Given the description of an element on the screen output the (x, y) to click on. 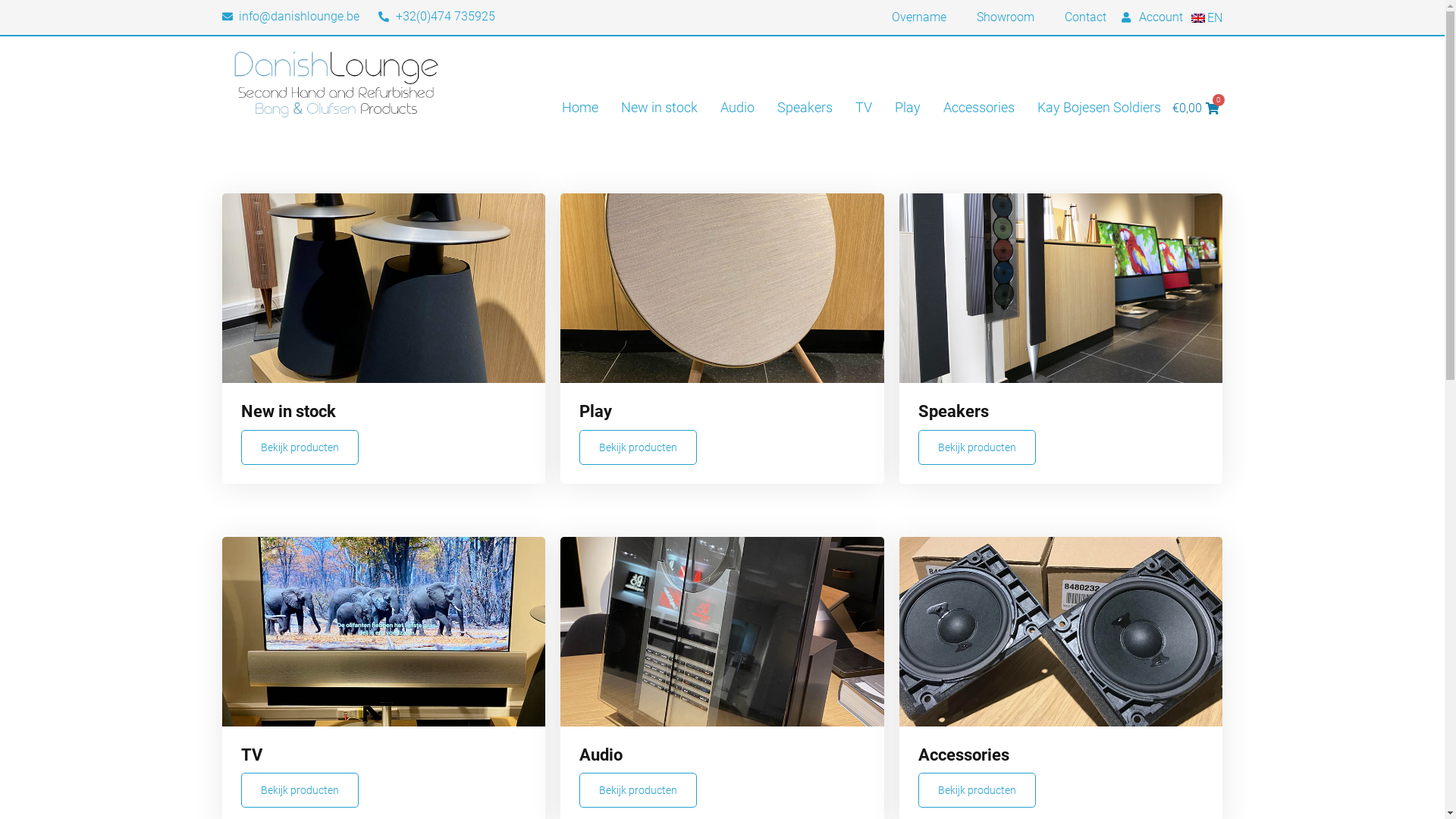
Overname Element type: text (918, 17)
info@danishlounge.be Element type: text (290, 16)
+32(0)474 735925 Element type: text (436, 16)
New in stock Element type: text (659, 107)
Home Element type: text (579, 107)
Speakers Element type: text (804, 107)
Accessories Element type: text (978, 107)
Account Element type: text (1152, 17)
Audio Element type: text (737, 107)
Bekijk producten Element type: text (976, 789)
Showroom Element type: text (1005, 17)
Bekijk producten Element type: text (299, 789)
TV Element type: text (863, 107)
Bekijk producten Element type: text (299, 446)
Bekijk producten Element type: text (976, 446)
Kay Bojesen Soldiers Element type: text (1099, 107)
EN Element type: text (1205, 17)
Bekijk producten Element type: text (637, 789)
Play Element type: text (907, 107)
Bekijk producten Element type: text (637, 446)
Contact Element type: text (1085, 17)
